Given the description of an element on the screen output the (x, y) to click on. 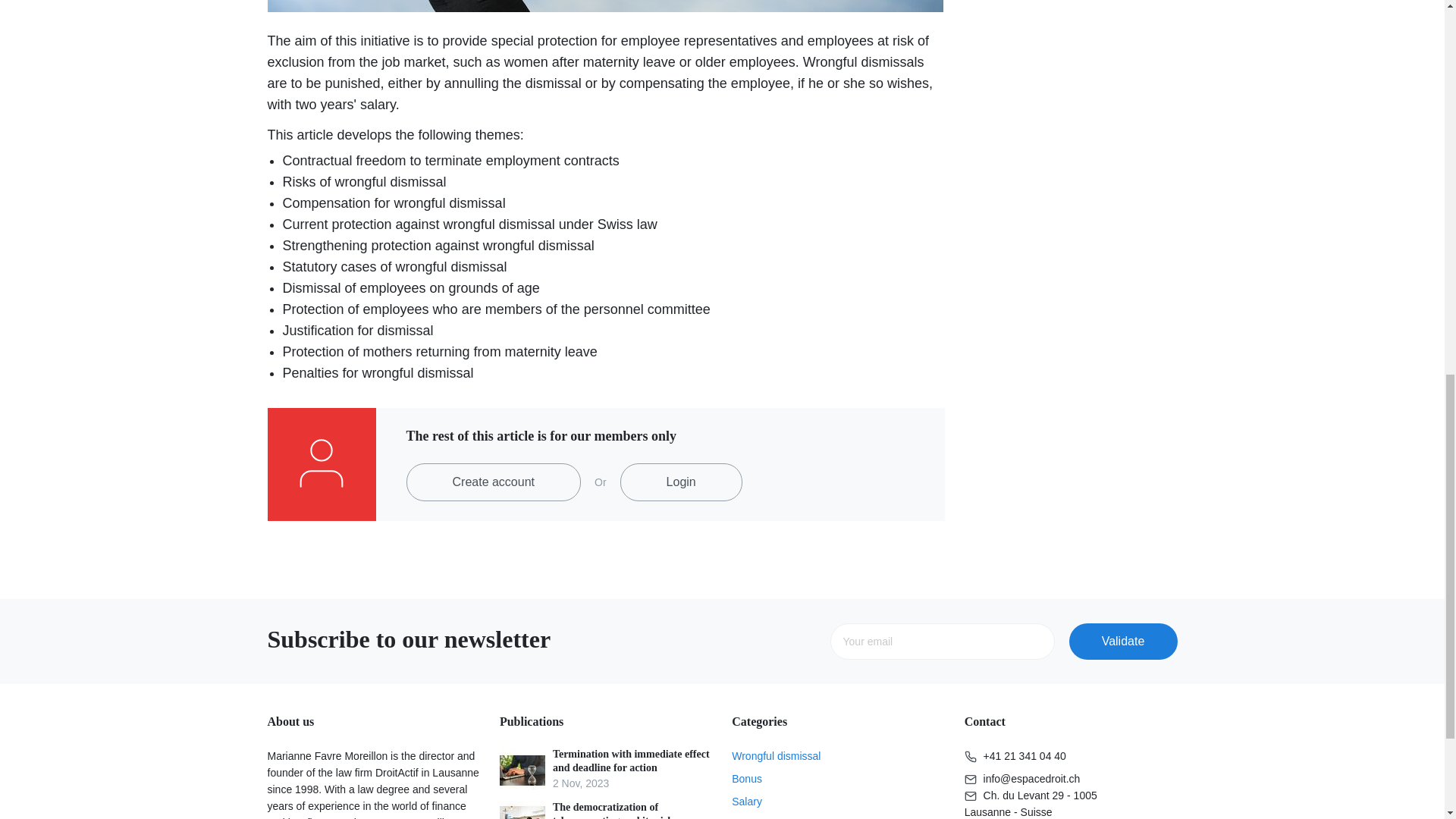
Your email (941, 641)
Go (1122, 641)
